Given the description of an element on the screen output the (x, y) to click on. 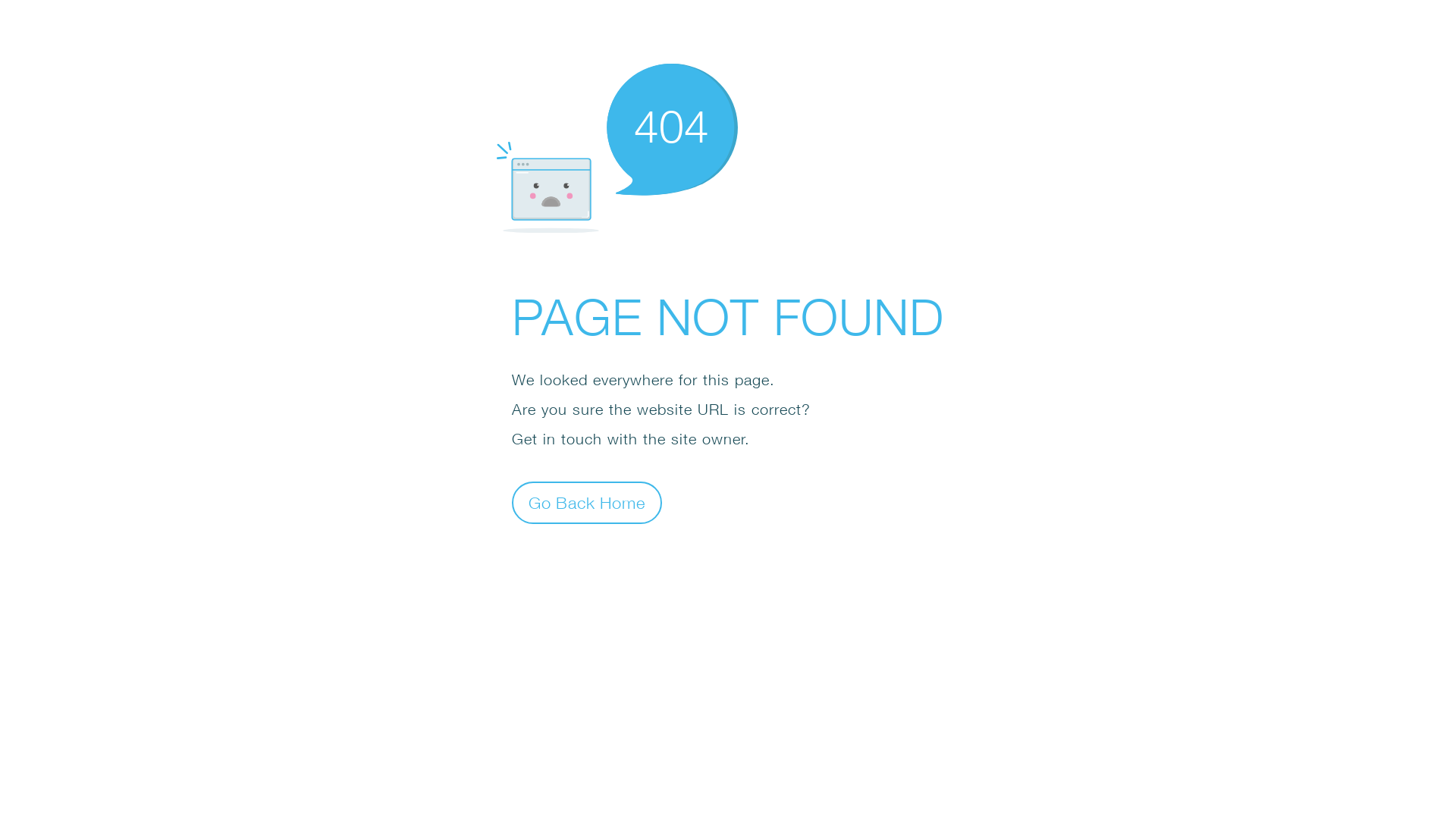
Go Back Home Element type: text (586, 502)
